Given the description of an element on the screen output the (x, y) to click on. 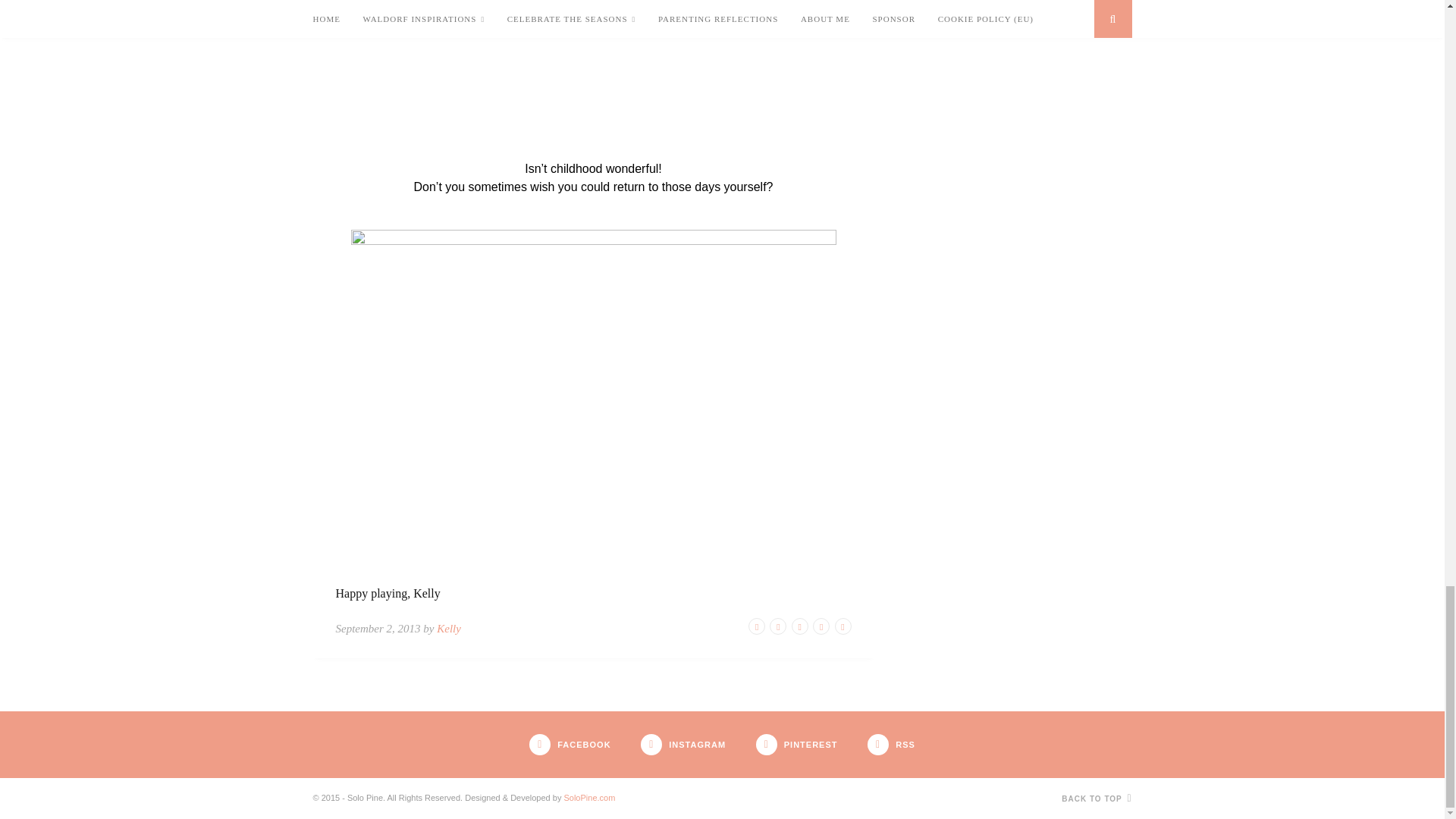
Posts by Kelly (448, 628)
Kelly (448, 628)
